Given the description of an element on the screen output the (x, y) to click on. 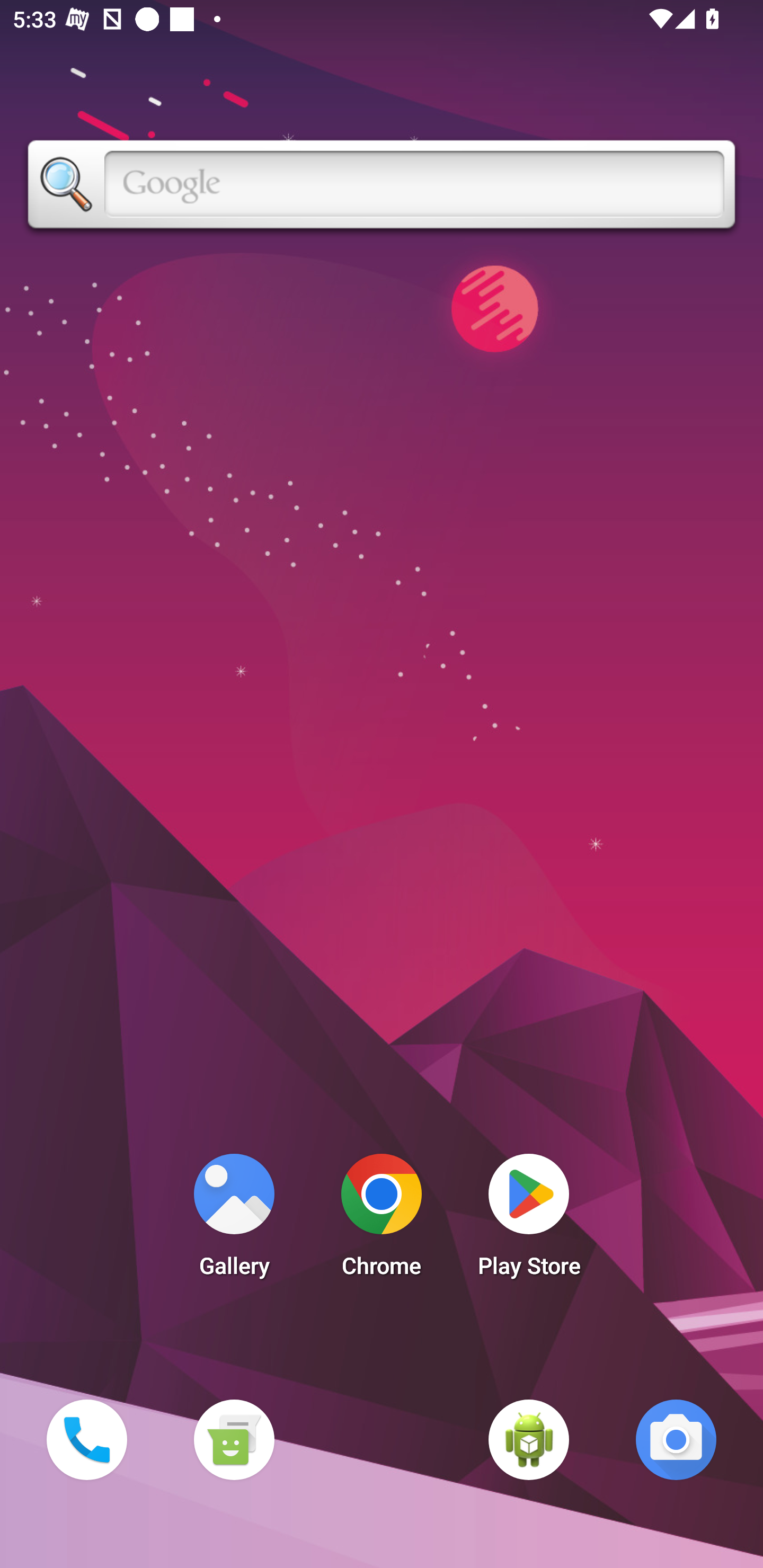
Gallery (233, 1220)
Chrome (381, 1220)
Play Store (528, 1220)
Phone (86, 1439)
Messaging (233, 1439)
WebView Browser Tester (528, 1439)
Camera (676, 1439)
